Given the description of an element on the screen output the (x, y) to click on. 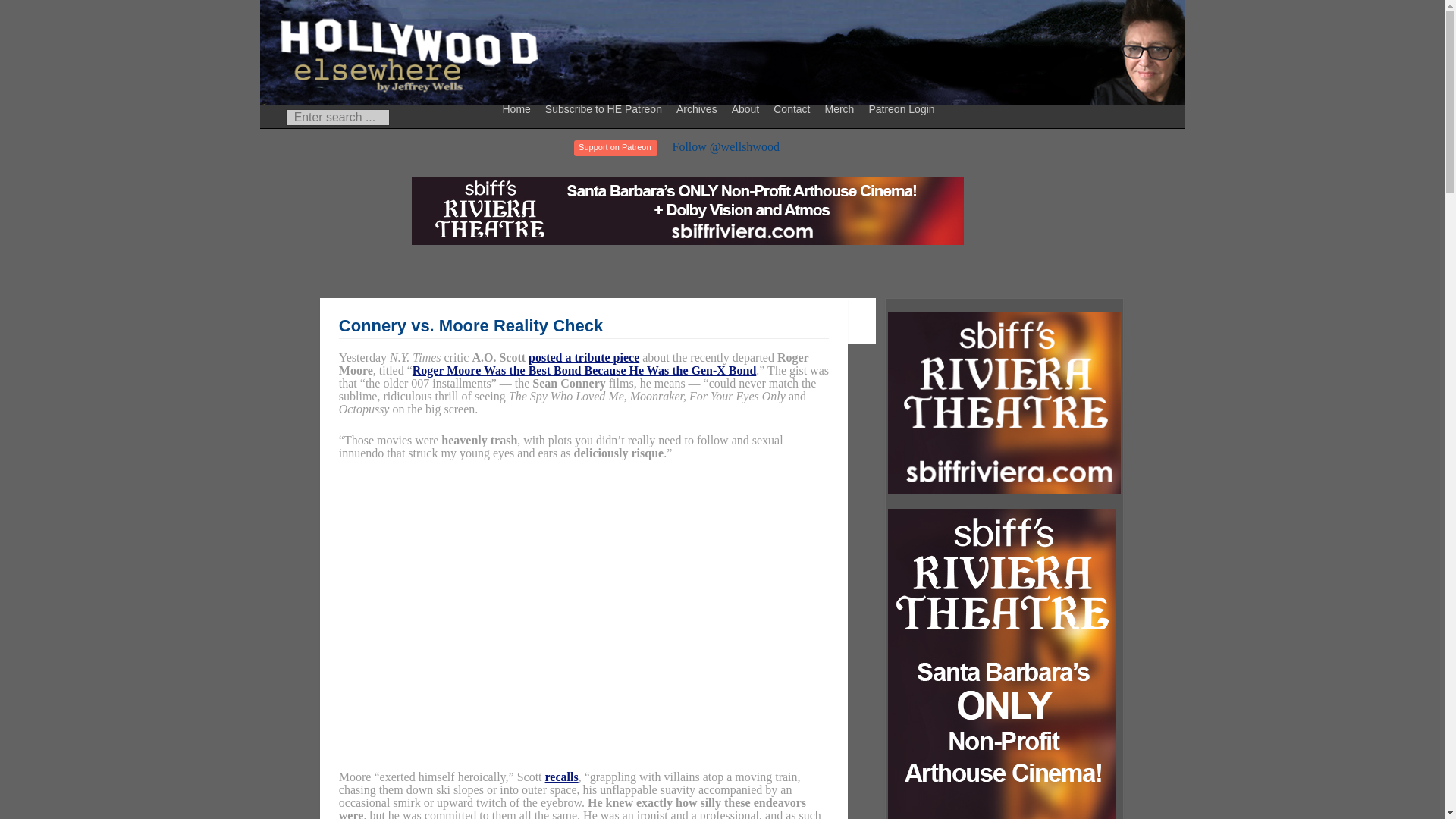
Contact (793, 108)
Home (519, 108)
Connery vs. Moore Reality Check (470, 325)
Roger Moore Was the Best Bond Because He Was the Gen-X Bond (584, 369)
Archives (698, 108)
recalls (561, 776)
Permanent Link to Connery vs. Moore Reality Check (470, 325)
Support on Patreon (614, 148)
Merch (841, 108)
Subscribe to HE Patreon (605, 108)
posted a tribute piece (583, 357)
About (747, 108)
